Given the description of an element on the screen output the (x, y) to click on. 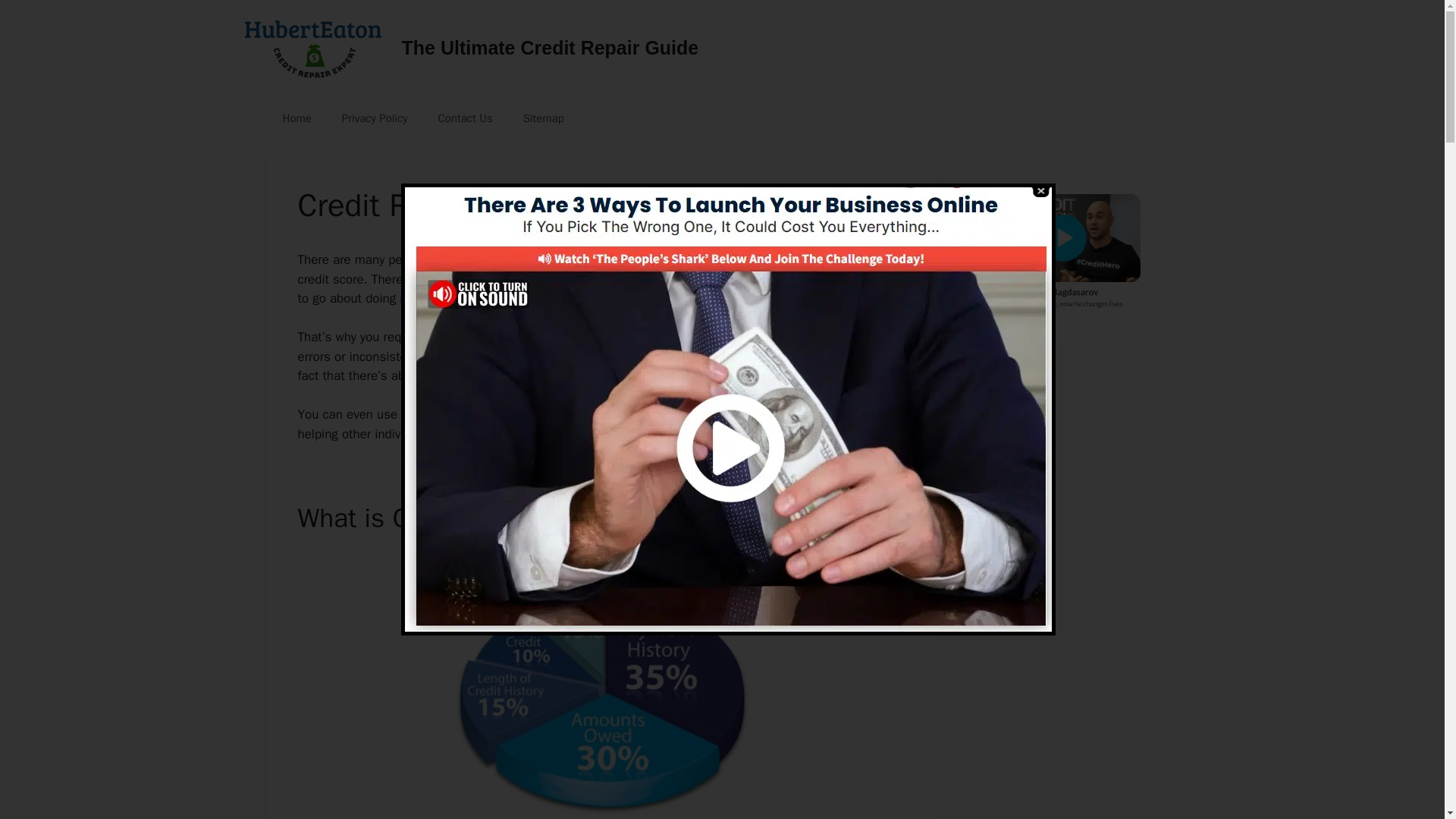
Contact Us (464, 117)
Close (1039, 191)
Privacy Policy (374, 117)
Sitemap (543, 117)
Home (296, 117)
your own credit repair business (775, 414)
The Ultimate Credit Repair Guide (549, 47)
